Given the description of an element on the screen output the (x, y) to click on. 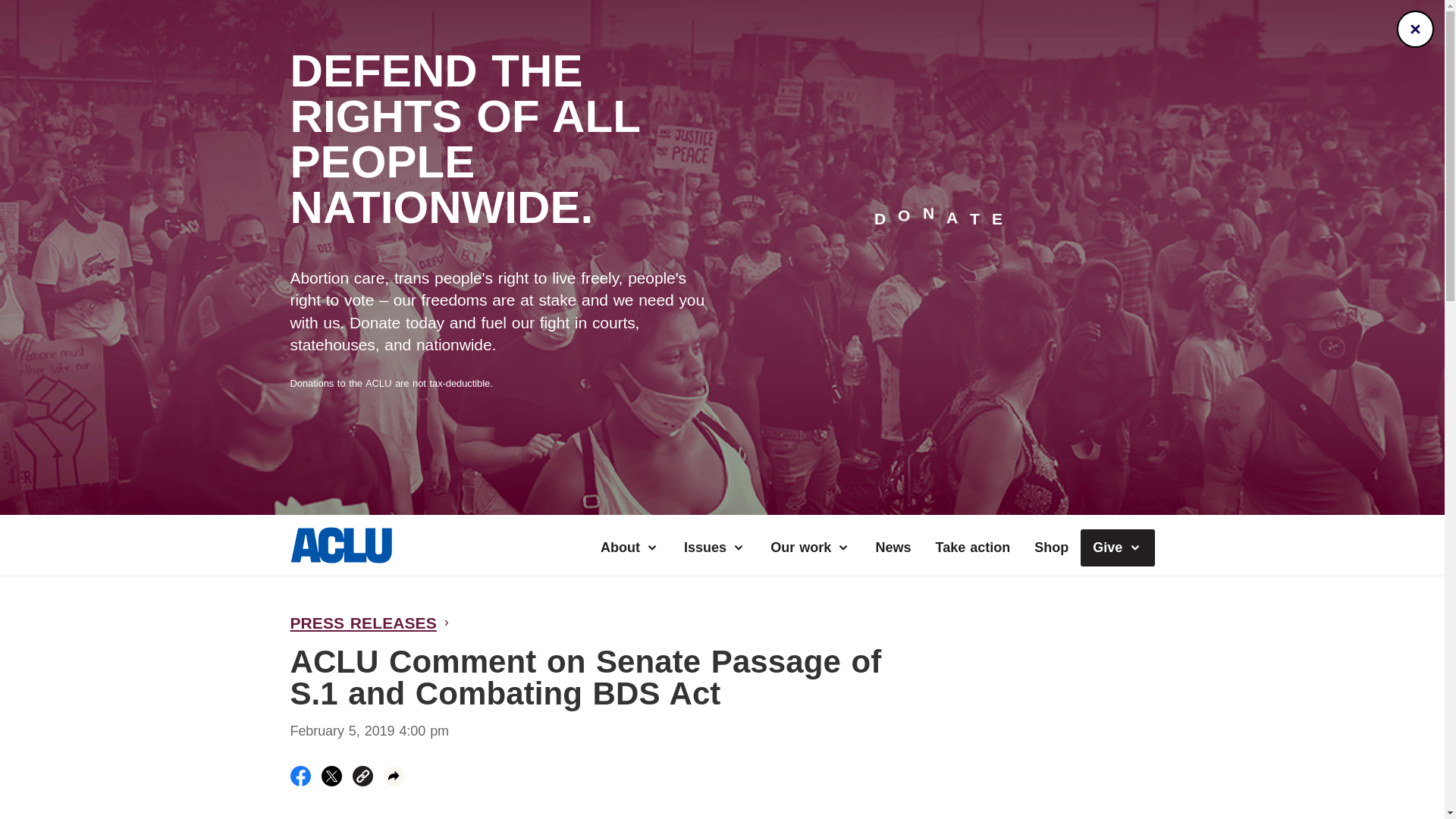
Issues (714, 547)
ACLU.org (340, 558)
About (629, 547)
